Given the description of an element on the screen output the (x, y) to click on. 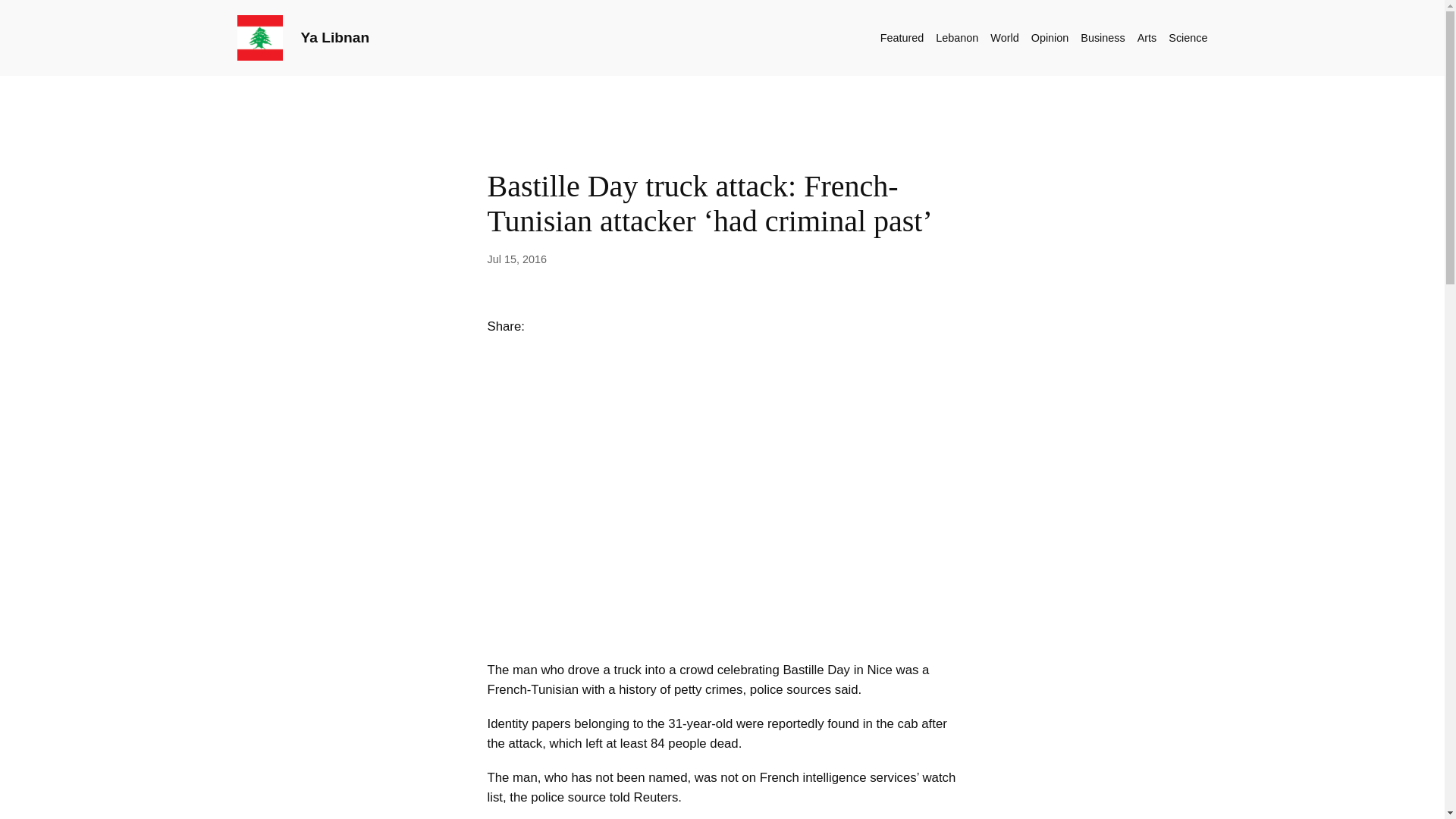
Ya Libnan (334, 37)
World (1003, 37)
Opinion (1049, 37)
Jul 15, 2016 (516, 259)
Business (1102, 37)
Lebanon (957, 37)
Arts (1147, 37)
Featured (902, 37)
Science (1188, 37)
